Given the description of an element on the screen output the (x, y) to click on. 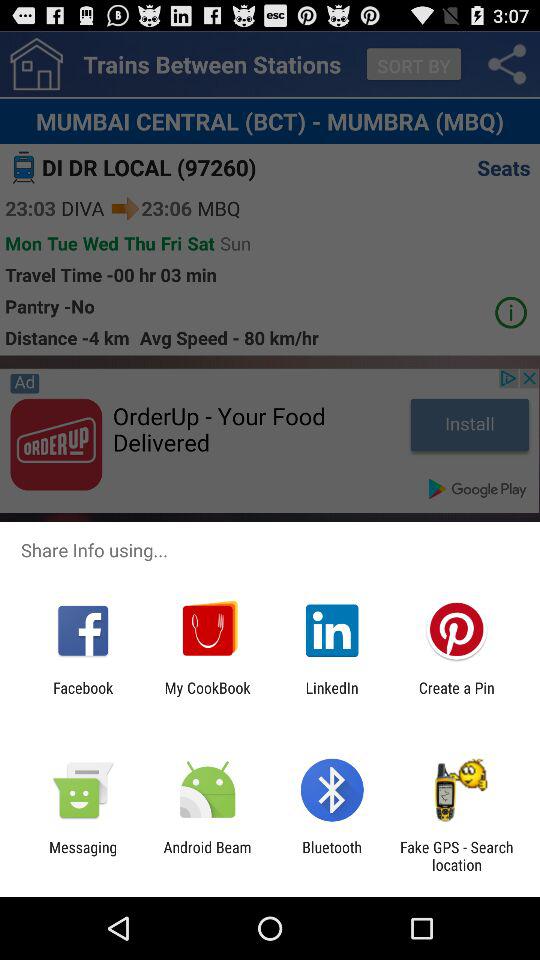
click app to the right of the facebook icon (207, 696)
